Given the description of an element on the screen output the (x, y) to click on. 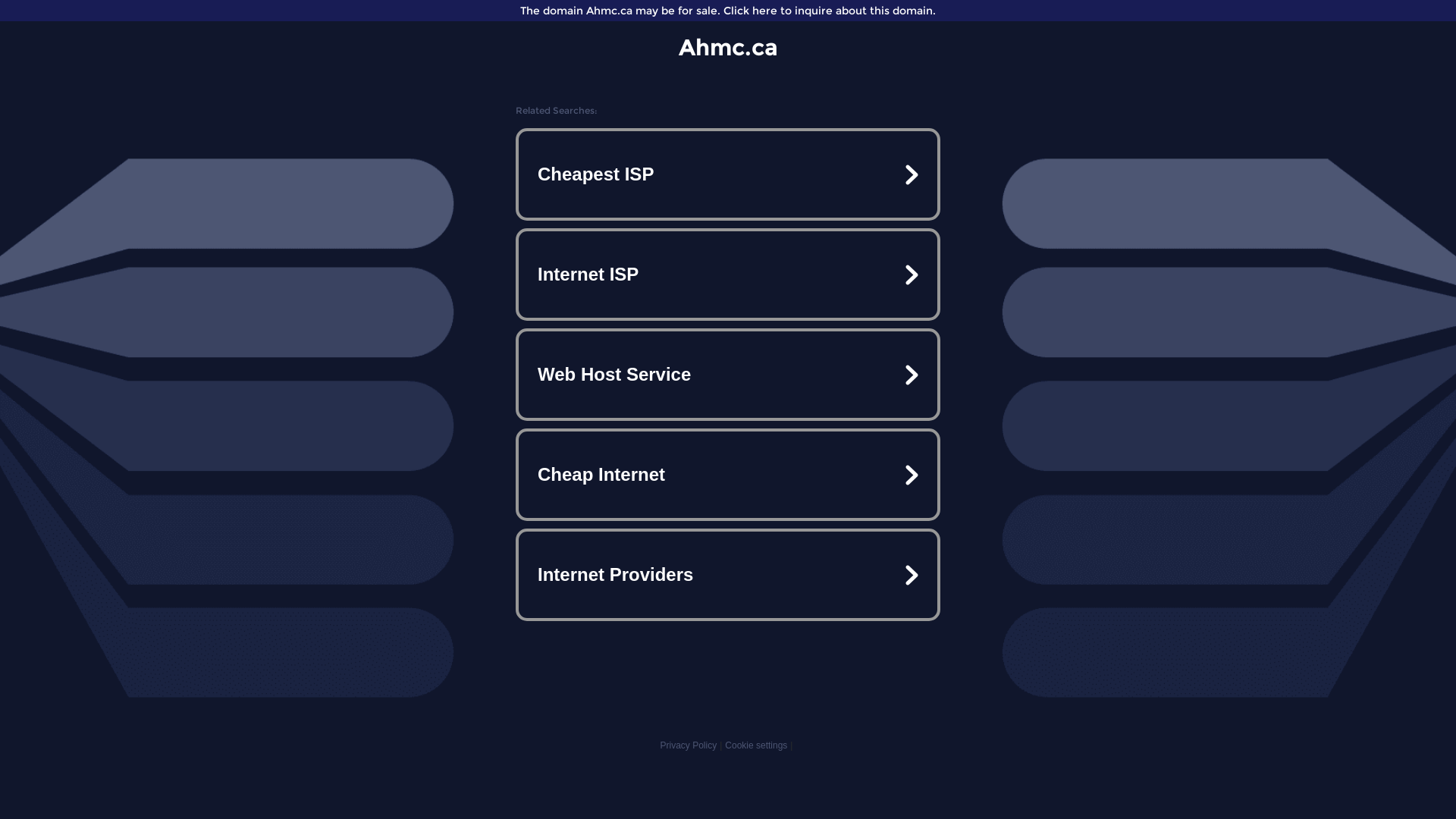
Ahmc.ca Element type: text (727, 47)
Web Host Service Element type: text (727, 374)
Cookie settings Element type: text (755, 745)
Internet ISP Element type: text (727, 274)
Cheapest ISP Element type: text (727, 174)
Internet Providers Element type: text (727, 574)
Cheap Internet Element type: text (727, 474)
Privacy Policy Element type: text (687, 745)
